Given the description of an element on the screen output the (x, y) to click on. 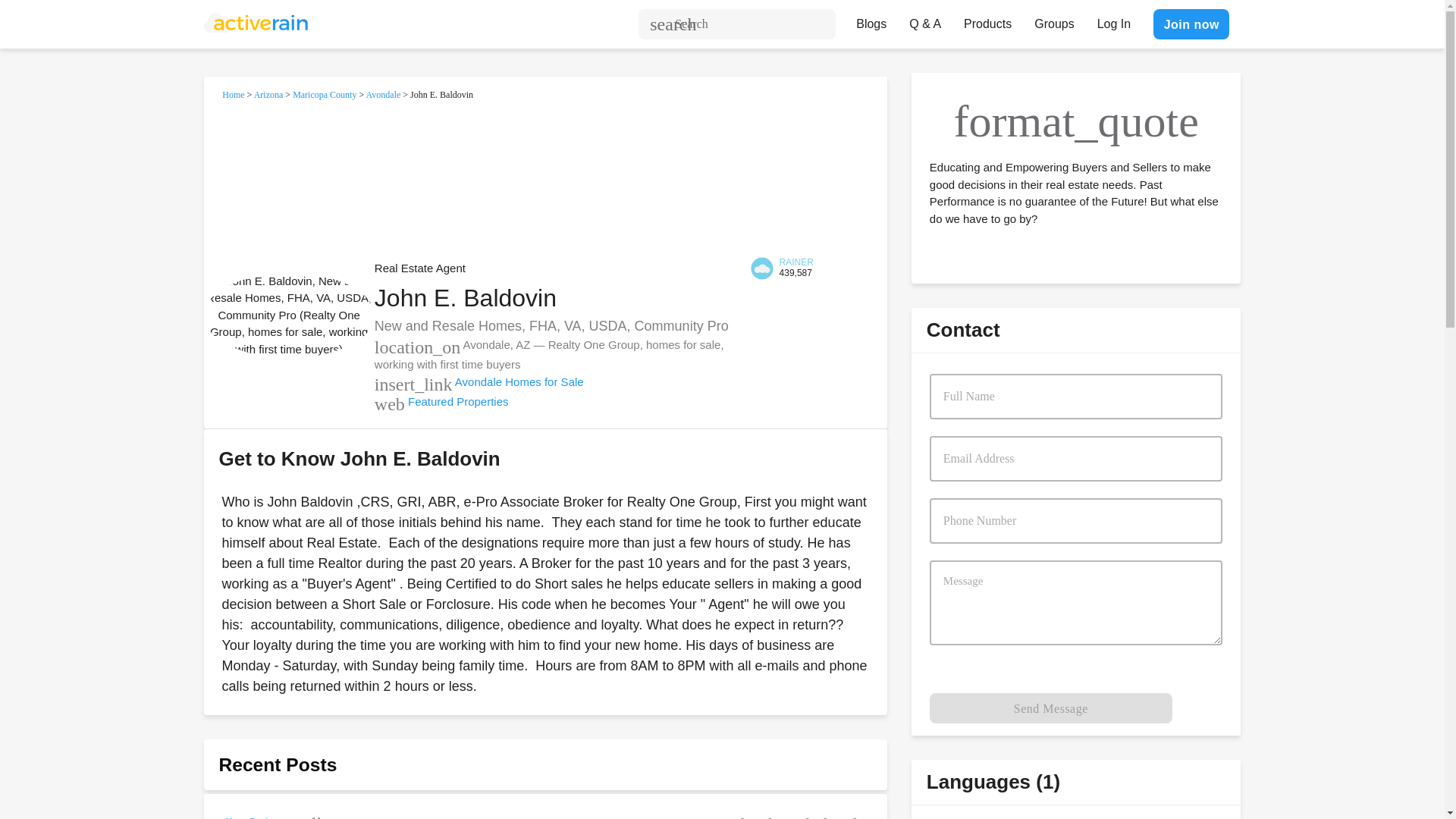
Join now (1190, 24)
Home (233, 94)
Groups (1053, 19)
Send Message (1051, 707)
Avondale (383, 94)
Blogs (870, 19)
Maricopa County (324, 94)
web Featured Properties (441, 400)
Recent Posts (277, 763)
Arizona (268, 94)
